Given the description of an element on the screen output the (x, y) to click on. 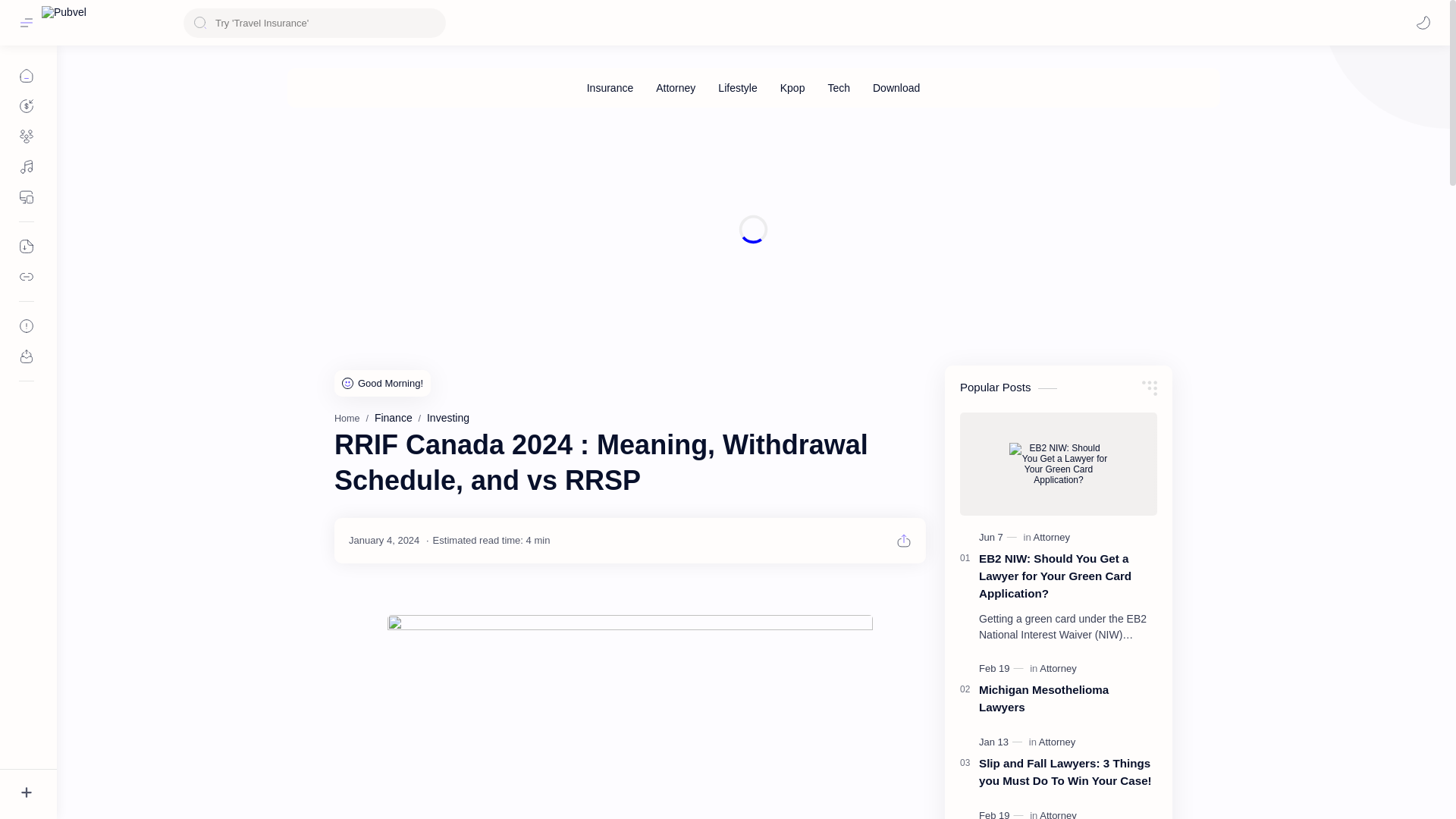
Published: June 7, 2024 (999, 537)
Home (346, 418)
Published: January 13, 2024 (1002, 742)
Investing (447, 417)
Published: February 19, 2024 (1002, 814)
Published: January 4, 2024 (384, 540)
Published: February 19, 2024 (1002, 668)
Finance (393, 417)
